Given the description of an element on the screen output the (x, y) to click on. 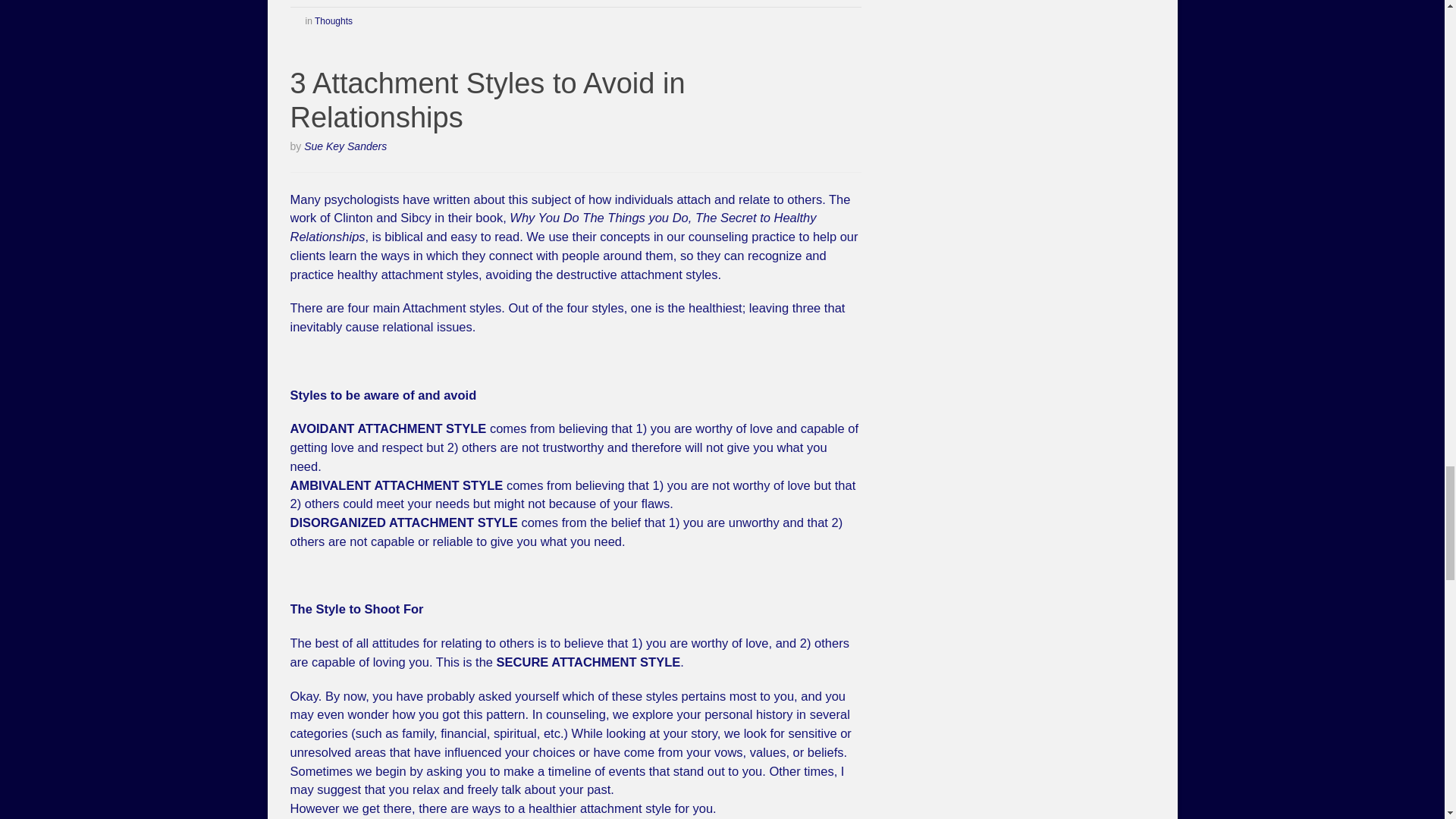
Posts by Sue Key Sanders (345, 146)
Sue Key Sanders (345, 146)
3 Attachment Styles to Avoid in Relationships (486, 99)
3 Attachment Styles to Avoid in Relationships (486, 99)
Thoughts (333, 20)
